Given the description of an element on the screen output the (x, y) to click on. 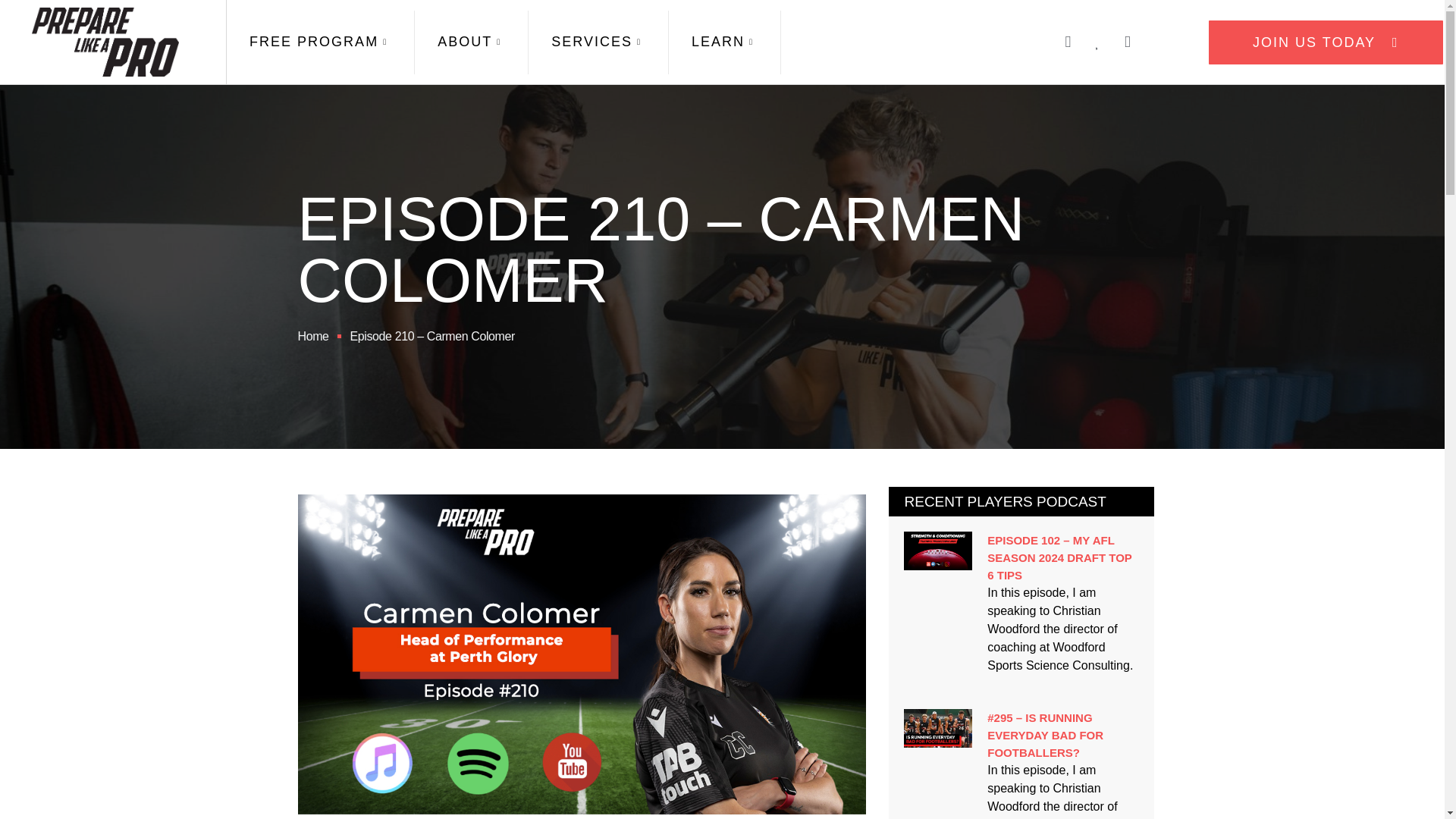
SERVICES (598, 42)
FREE PROGRAM (320, 42)
ABOUT (471, 42)
